Given the description of an element on the screen output the (x, y) to click on. 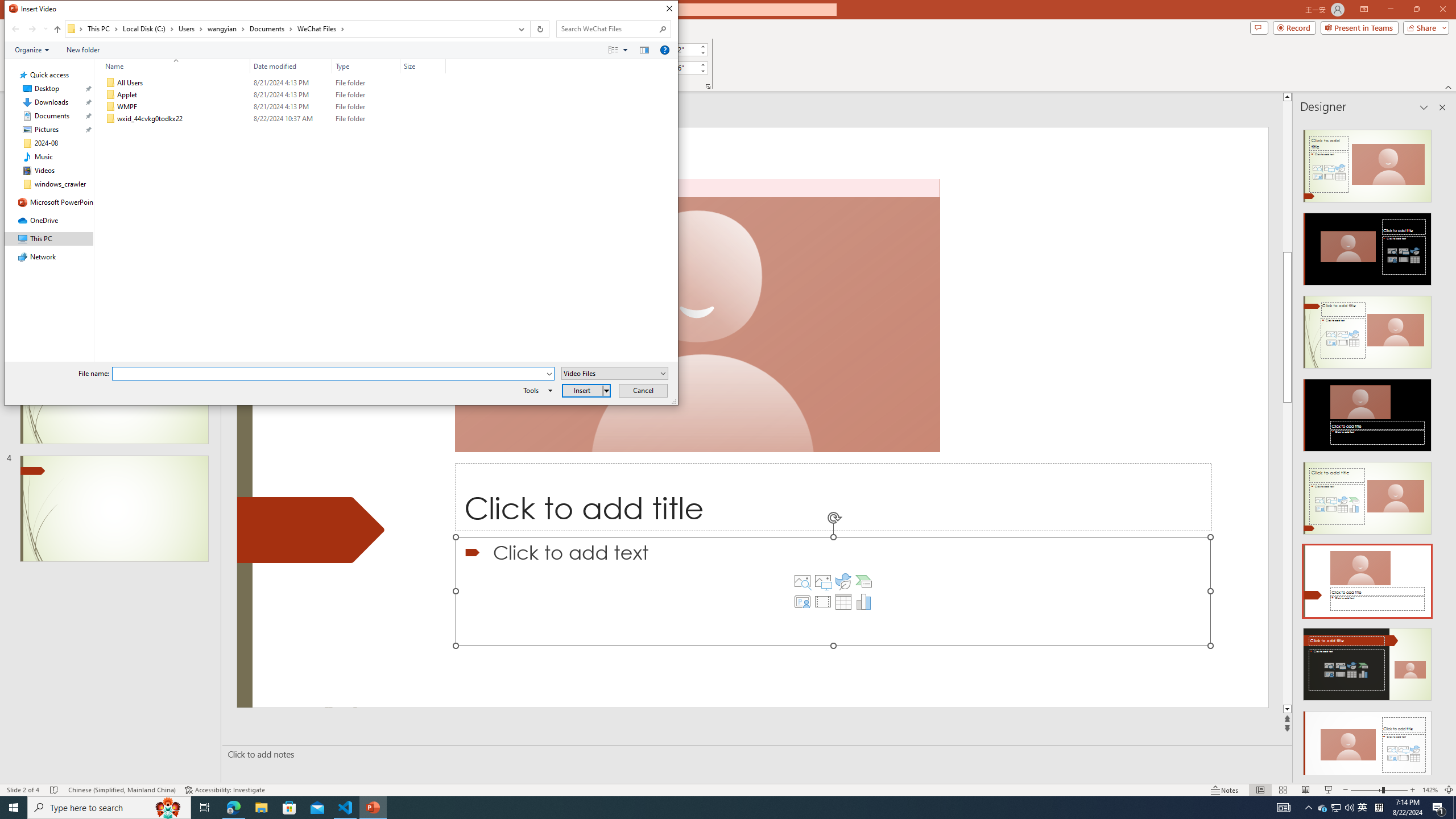
Microsoft Edge - 1 running window (233, 807)
Local Disk (C:) (148, 28)
Recommended Design: Design Idea (1366, 162)
Action Center, 1 new notification (1439, 807)
Running applications (700, 807)
Organize (31, 49)
More (702, 64)
All locations (75, 28)
Less (1322, 807)
Visual Studio Code - 1 running window (702, 70)
